Given the description of an element on the screen output the (x, y) to click on. 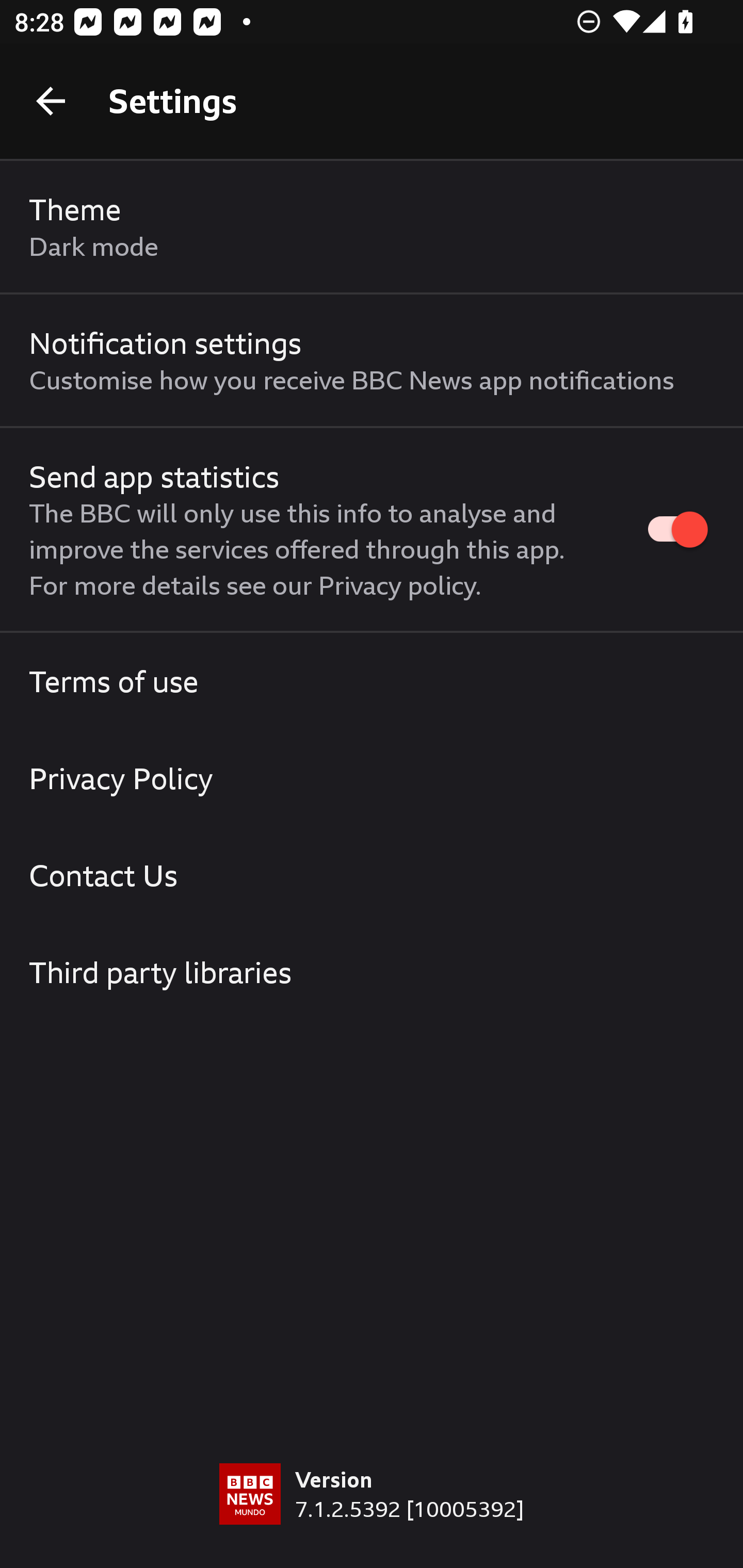
Back (50, 101)
Theme Dark mode (371, 227)
Terms of use (371, 681)
Privacy Policy (371, 777)
Contact Us (371, 874)
Third party libraries (371, 971)
Version 7.1.2.5392 [10005392] (371, 1515)
